Given the description of an element on the screen output the (x, y) to click on. 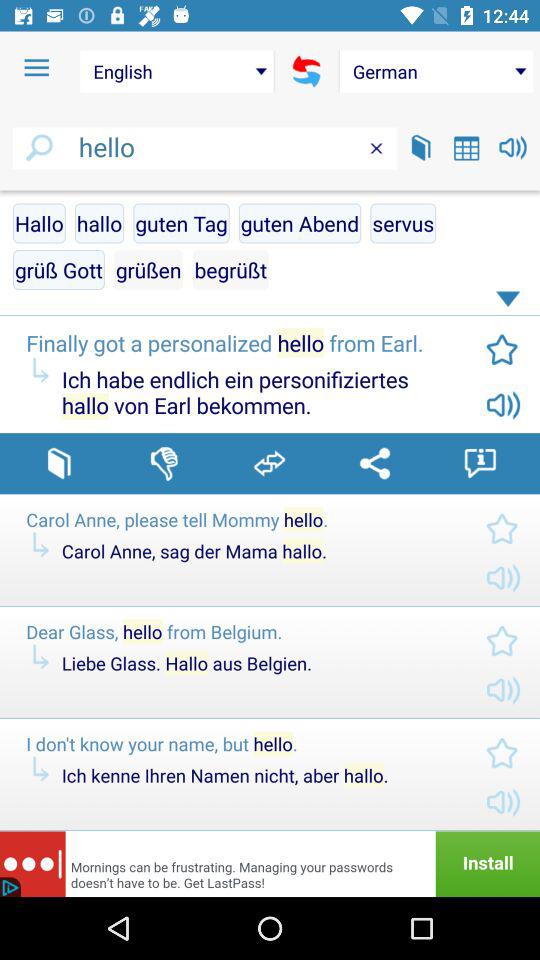
choose the i don t icon (239, 743)
